Given the description of an element on the screen output the (x, y) to click on. 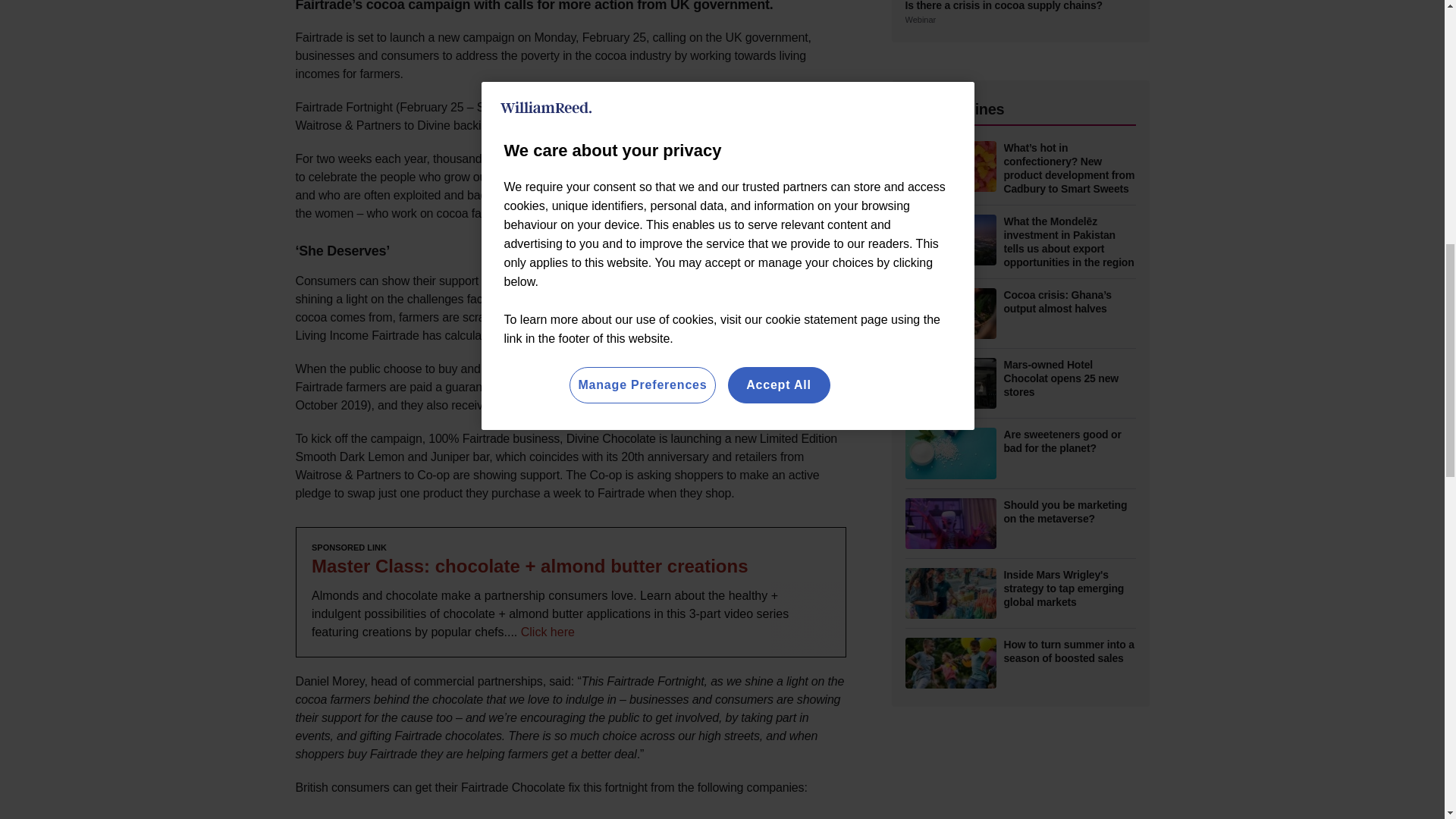
3rd party ad content (570, 592)
